Given the description of an element on the screen output the (x, y) to click on. 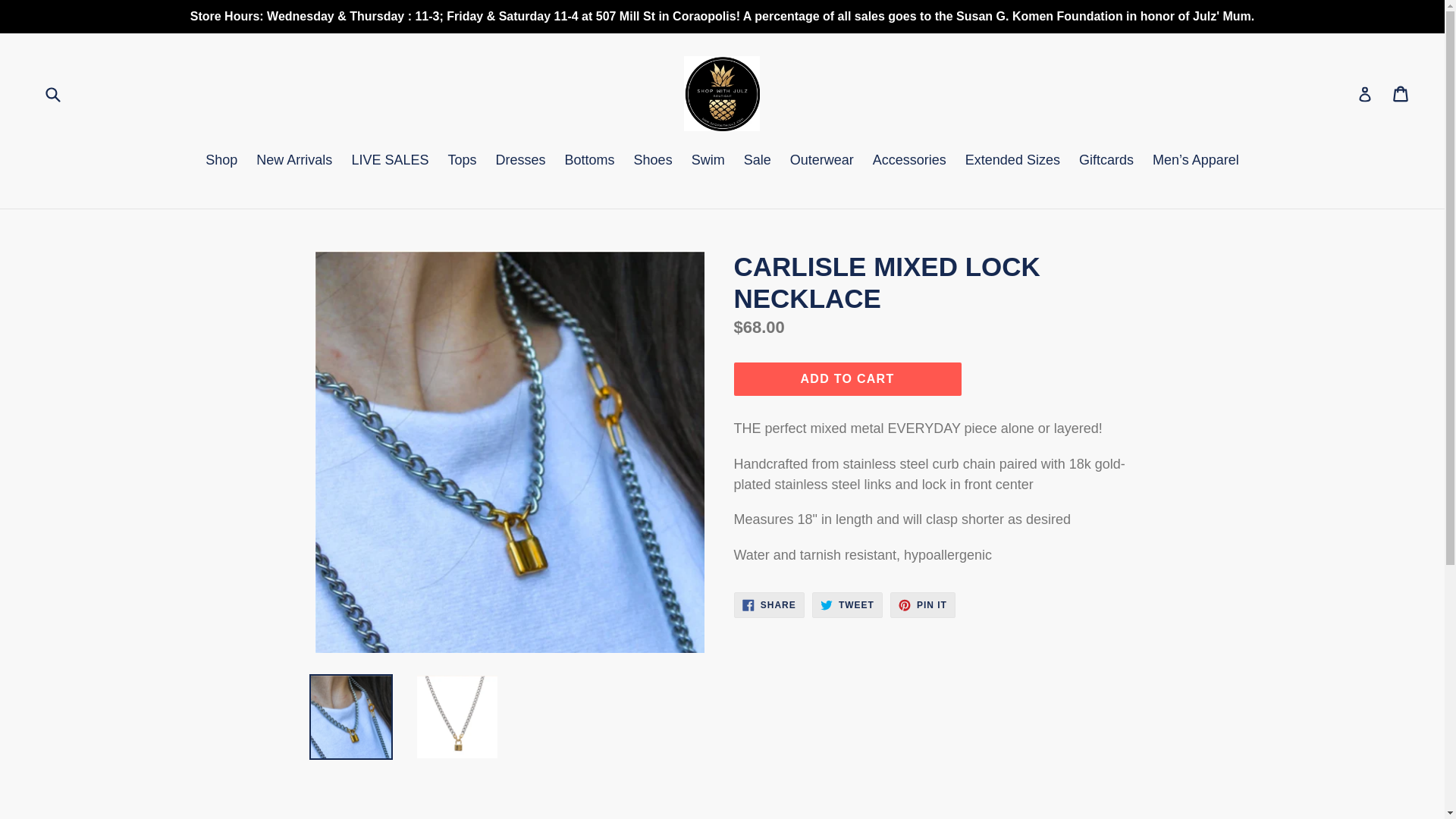
Tops (461, 160)
LIVE SALES (389, 160)
Extended Sizes (1012, 160)
Pin on Pinterest (922, 605)
Giftcards (1106, 160)
Tweet on Twitter (847, 605)
Outerwear (822, 160)
Log in (1364, 92)
Bottoms (590, 160)
Accessories (1401, 93)
Shoes (908, 160)
Shop (652, 160)
Sale (221, 160)
Share on Facebook (757, 160)
